Given the description of an element on the screen output the (x, y) to click on. 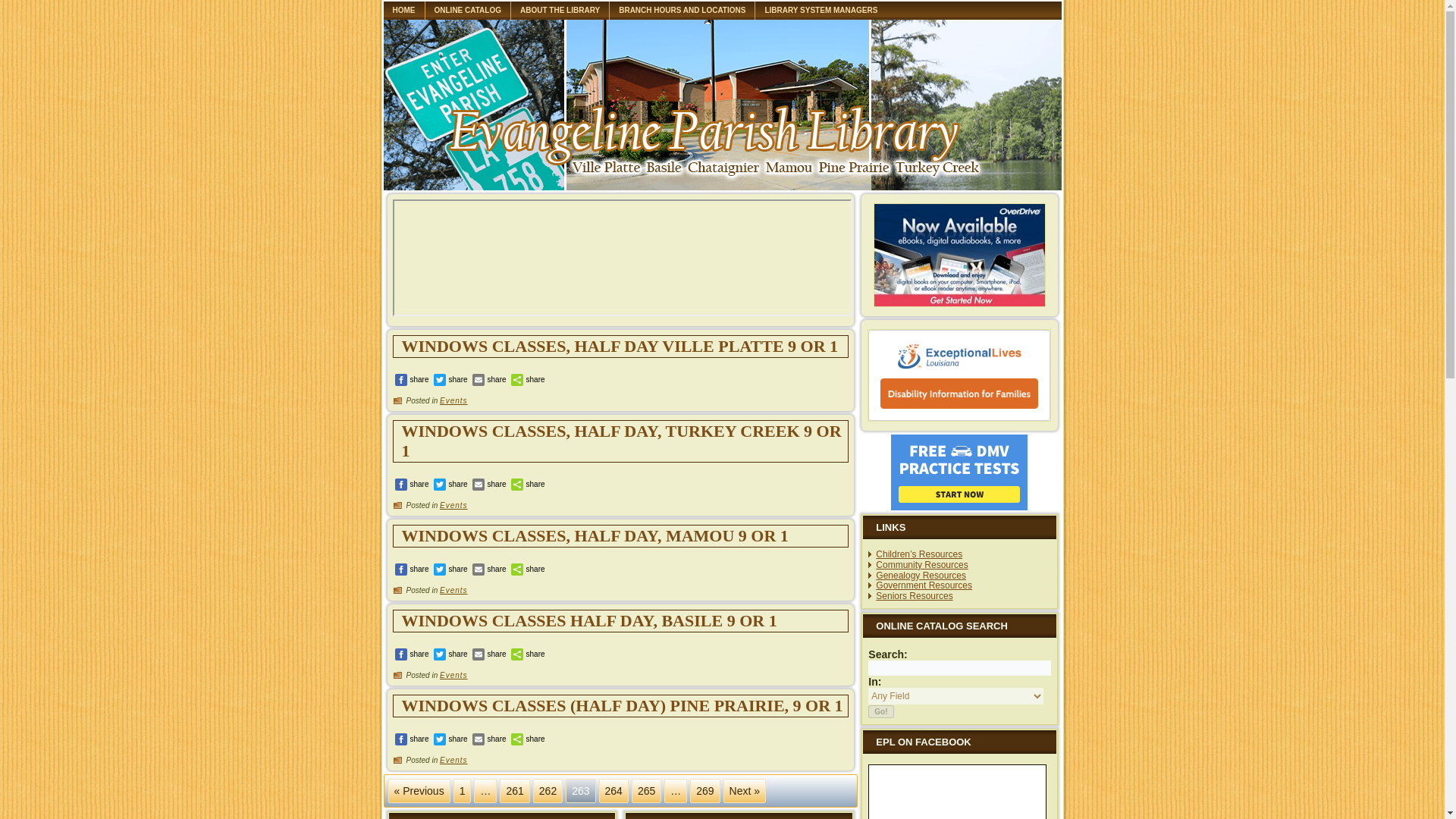
WINDOWS CLASSES, HALF DAY VILLE PLATTE 9 OR 1 (619, 345)
Windows classes, half day, Turkey Creek 9 or 1 (621, 440)
WINDOWS CLASSES, HALF DAY, MAMOU 9 OR 1 (595, 535)
HOME (404, 10)
WINDOWS CLASSES, HALF DAY, TURKEY CREEK 9 OR 1 (621, 440)
Library System Managers (820, 10)
Events (453, 400)
Events (453, 759)
261 (514, 790)
BRANCH HOURS AND LOCATIONS (682, 10)
Events (453, 590)
Events (453, 505)
Windows classes, half day Ville Platte 9 or 1 (619, 345)
Windows classes half day, Basile 9 or 1 (589, 619)
Branch Hours and Locations (682, 10)
